Given the description of an element on the screen output the (x, y) to click on. 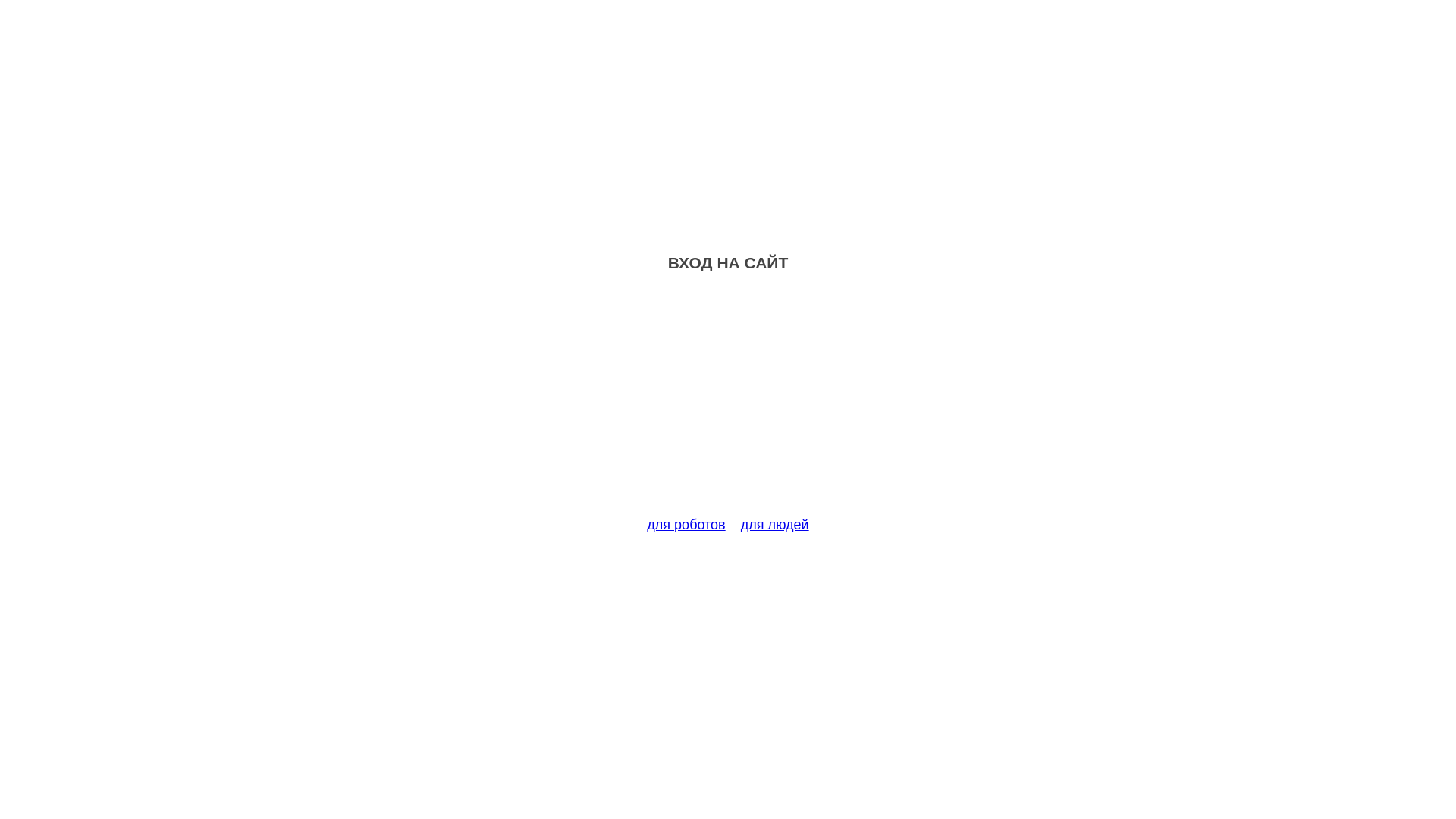
Advertisement Element type: hover (727, 403)
